Given the description of an element on the screen output the (x, y) to click on. 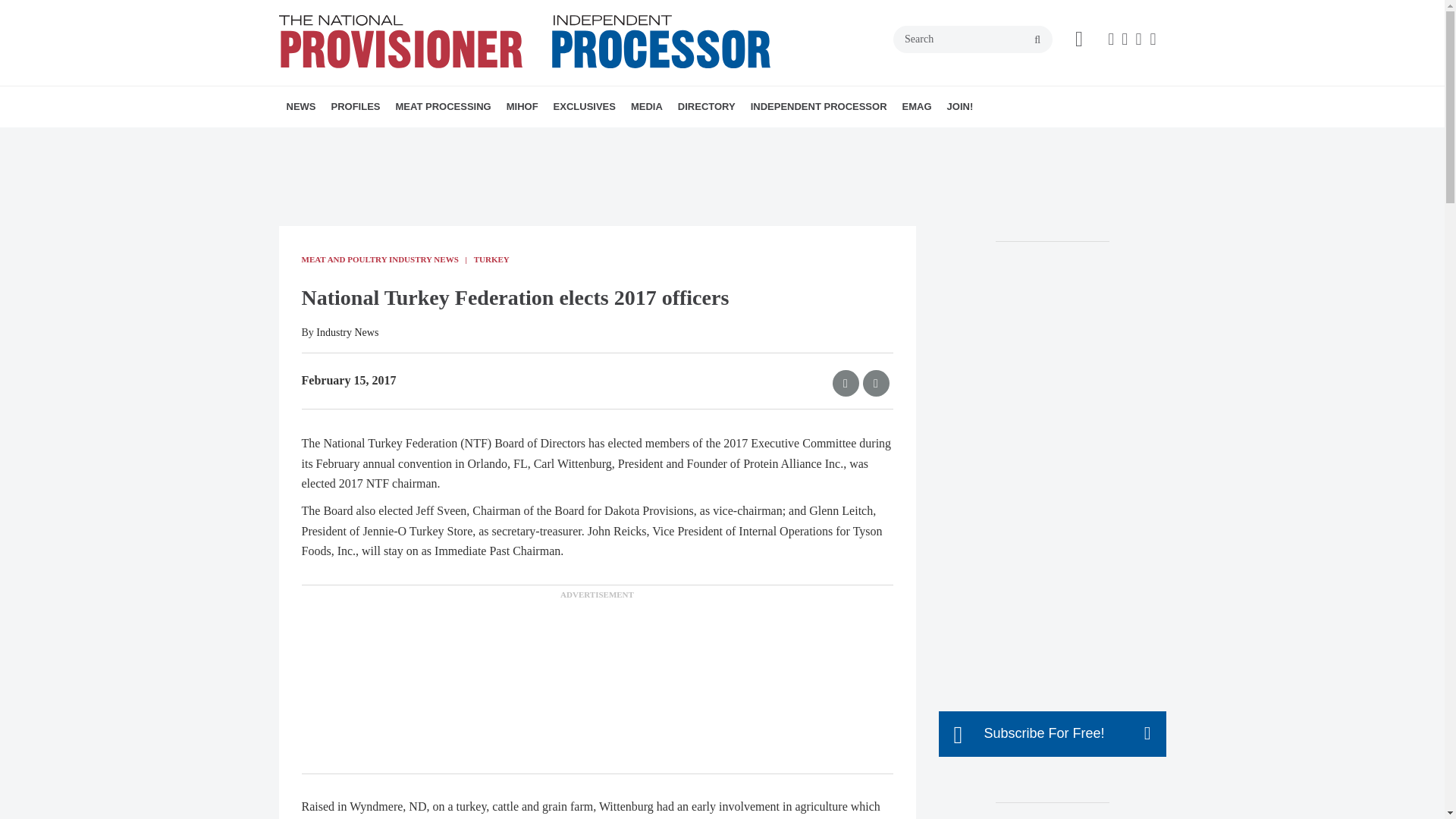
WEBINARS (653, 139)
INGREDIENTS (500, 139)
PROFILES (355, 106)
Search (972, 39)
PACKAGING (496, 139)
EVENTS (647, 139)
INDUSTRY NEWS (373, 139)
EXCLUSIVES (584, 106)
PROCESSOR OF THE YEAR (424, 139)
MIHOF (522, 106)
ENEWSLETTERS (640, 139)
TOP 100 PROCESSORS (430, 139)
PROCESSOR PROFILES (417, 139)
FORMULATION (506, 139)
COMMENTARY (516, 139)
